Given the description of an element on the screen output the (x, y) to click on. 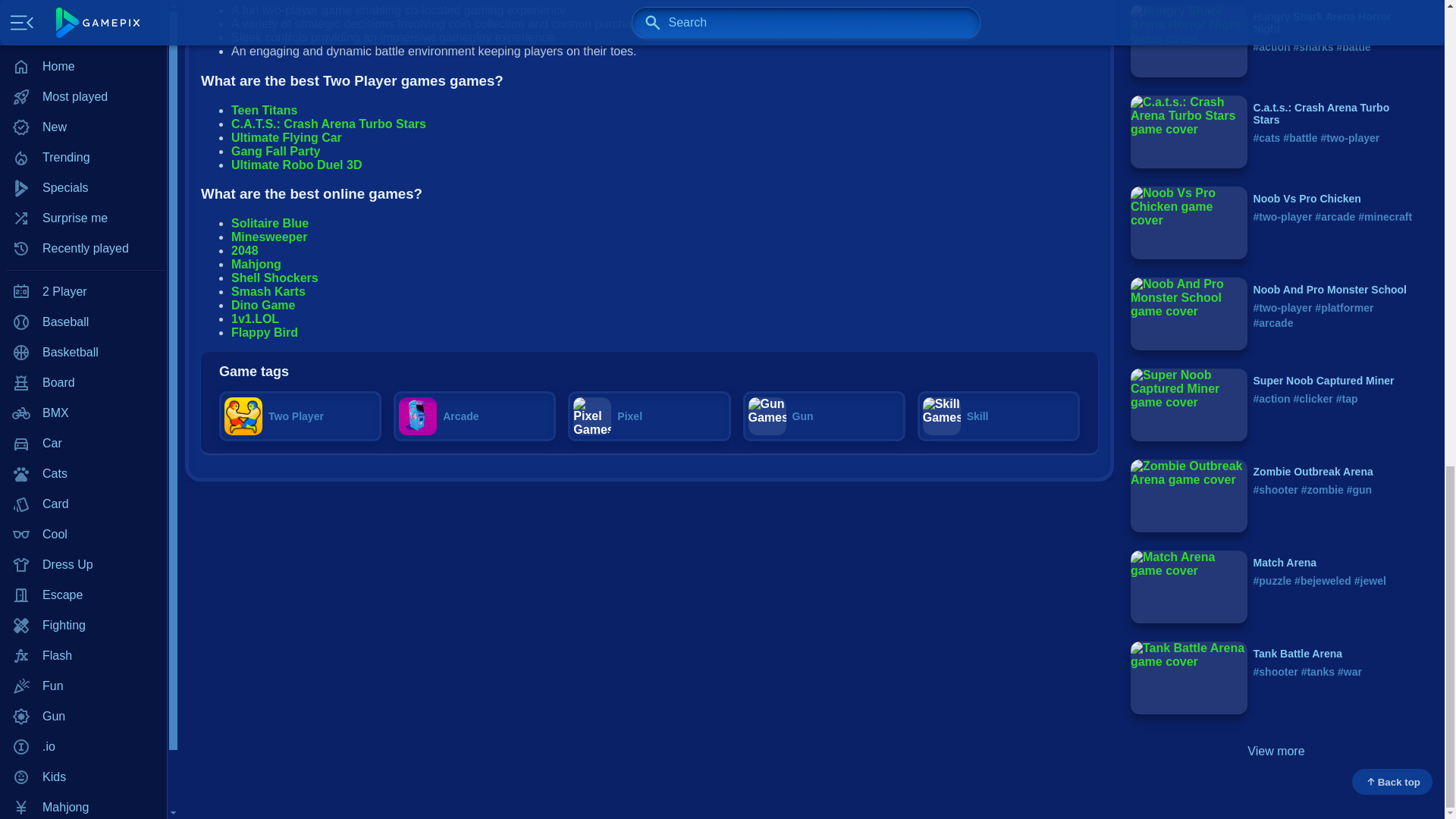
Word (83, 79)
Zombie (83, 110)
Snake (83, 2)
Soccer (83, 19)
War (83, 49)
